Given the description of an element on the screen output the (x, y) to click on. 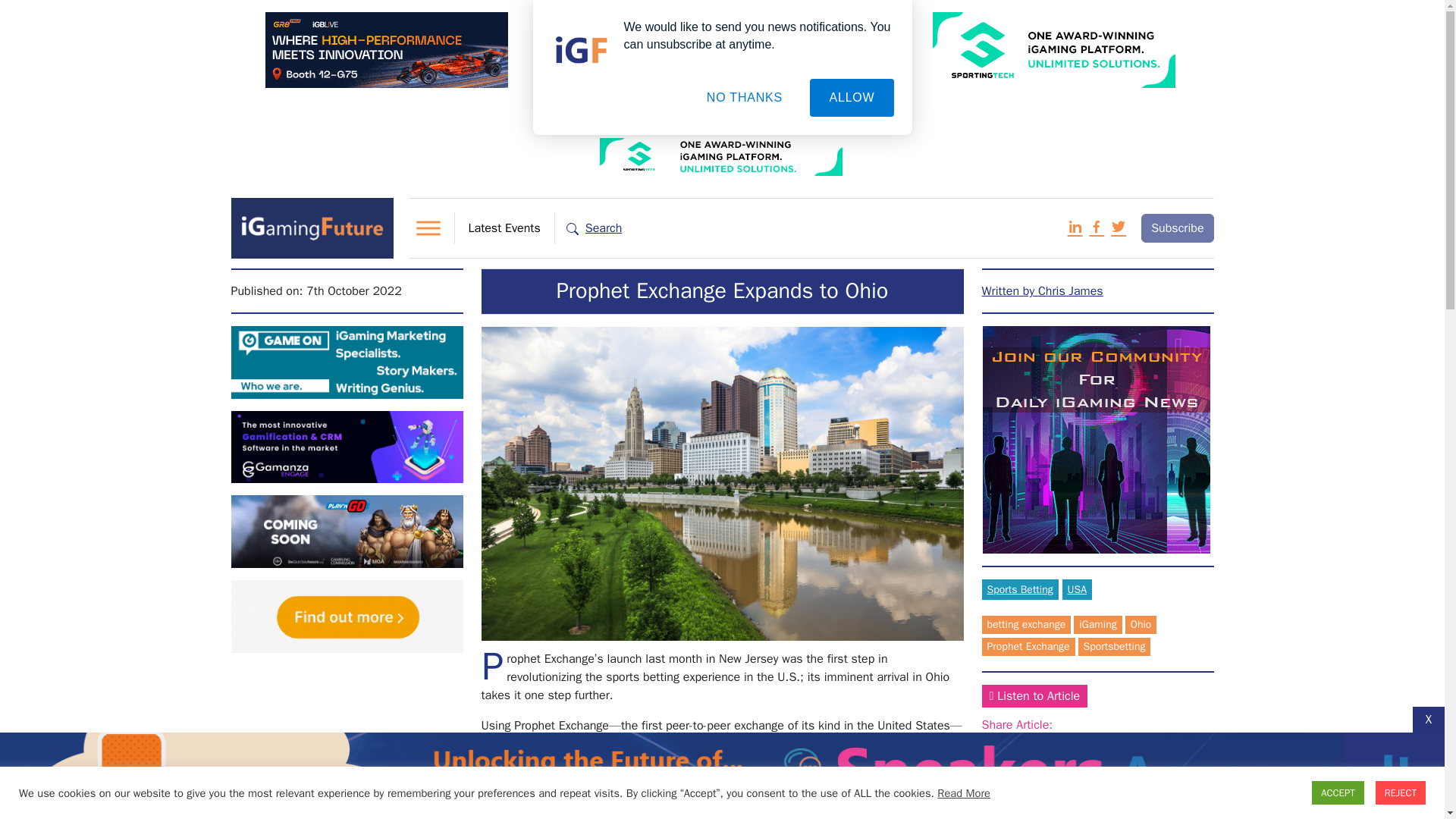
Share on Facebook (1069, 741)
Share on Telegram (1118, 741)
Chris James (1041, 290)
Share on Whatsapp (1094, 741)
Share via Email (1166, 741)
Share on Twitter (1142, 741)
